Given the description of an element on the screen output the (x, y) to click on. 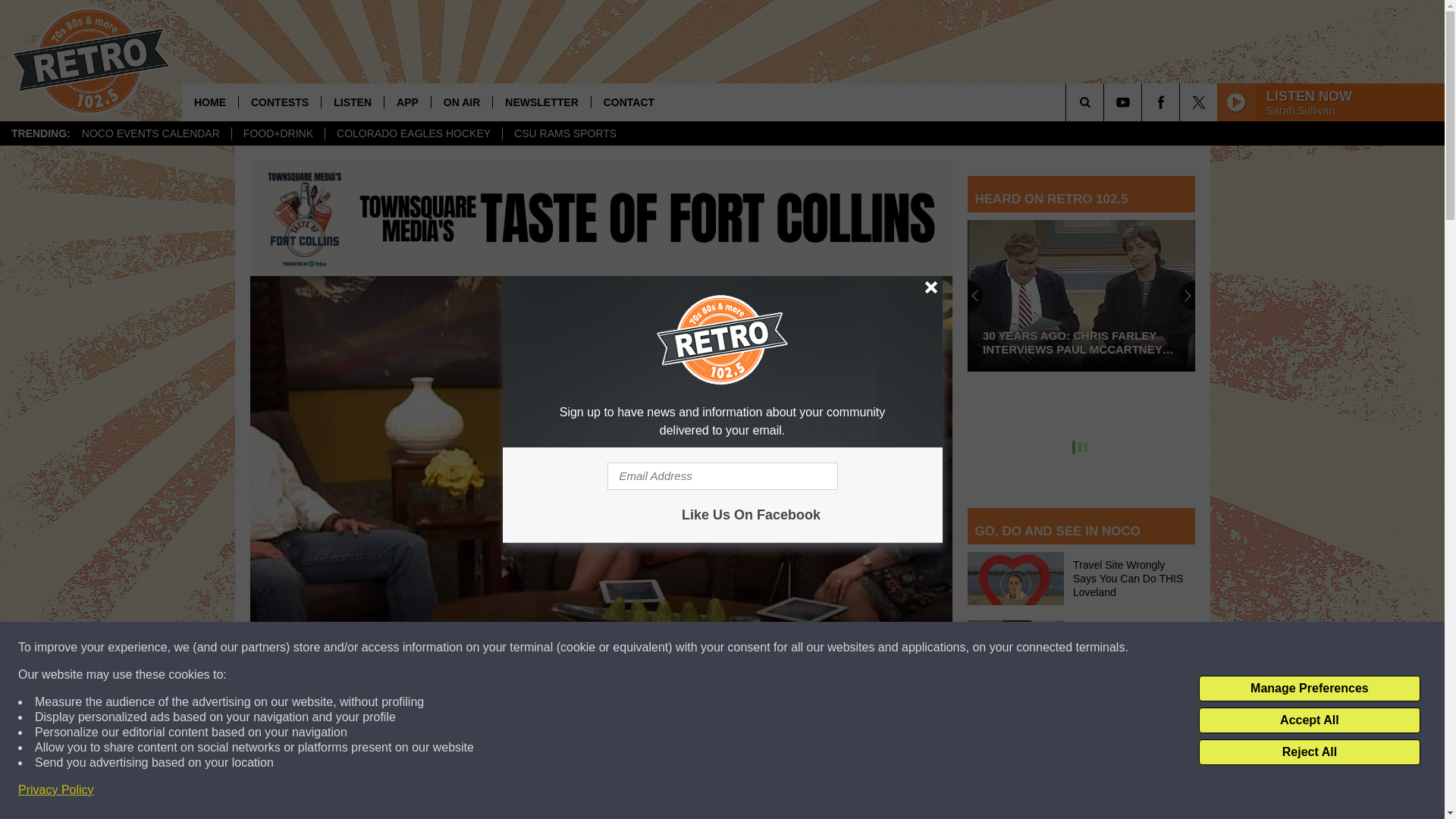
Reject All (1309, 751)
LISTEN (352, 102)
CONTACT (628, 102)
SEARCH (1106, 102)
CSU RAMS SPORTS (564, 133)
CONTESTS (279, 102)
NOCO EVENTS CALENDAR (150, 133)
Privacy Policy (55, 789)
APP (407, 102)
Accept All (1309, 720)
Manage Preferences (1309, 688)
SEARCH (1106, 102)
NEWSLETTER (540, 102)
COLORADO EAGLES HOCKEY (413, 133)
Email Address (722, 475)
